Given the description of an element on the screen output the (x, y) to click on. 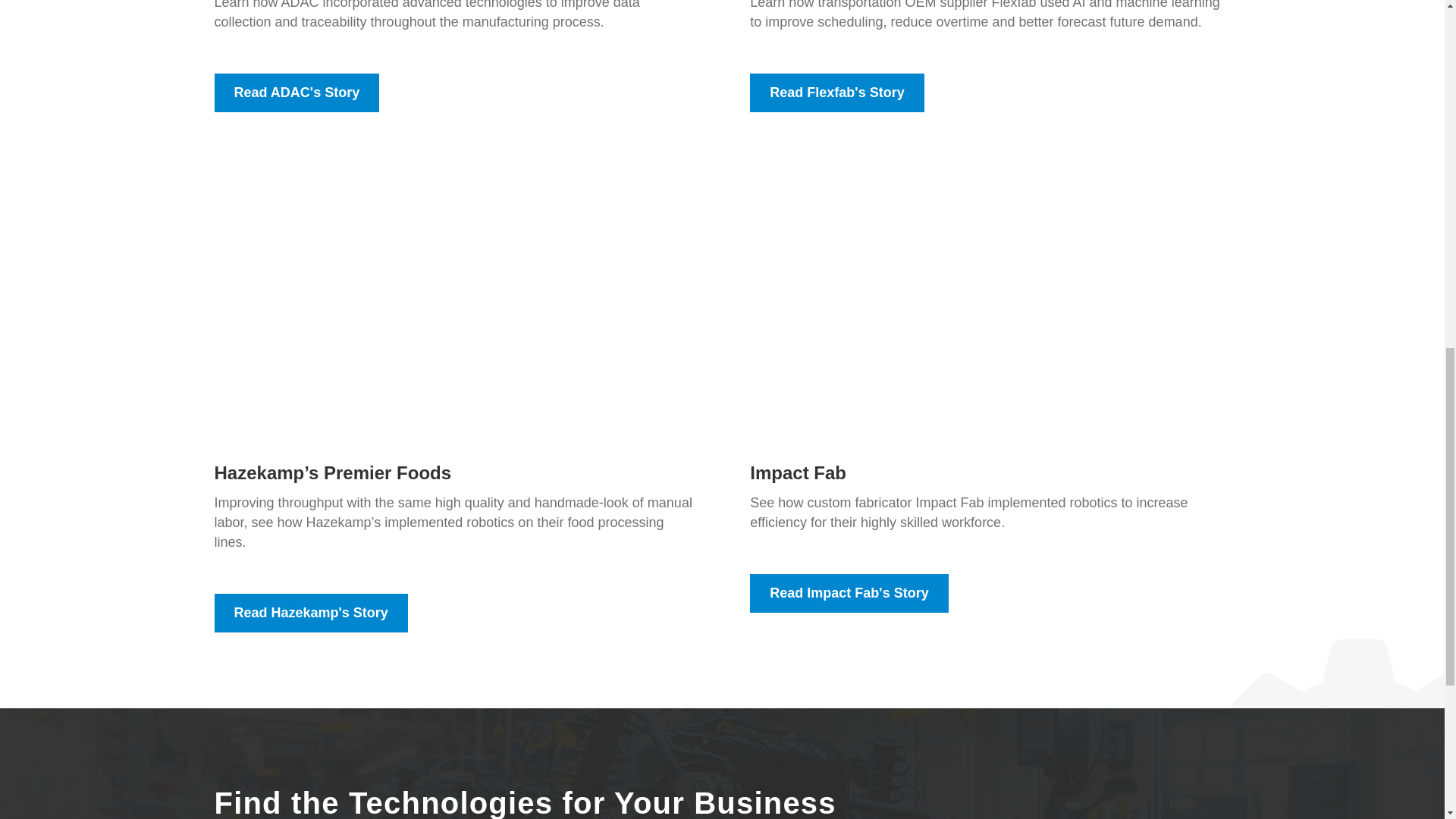
Industry 4.0 Success Stories l Hazekamp's Premier Foods (454, 297)
Read Impact Fab's Story (848, 593)
Industry 4.0 Success Stories l Impact Fab (989, 297)
Read Flexfab's Story (836, 92)
Read Hazekamp's Story (310, 612)
Read ADAC's Story (296, 92)
